Given the description of an element on the screen output the (x, y) to click on. 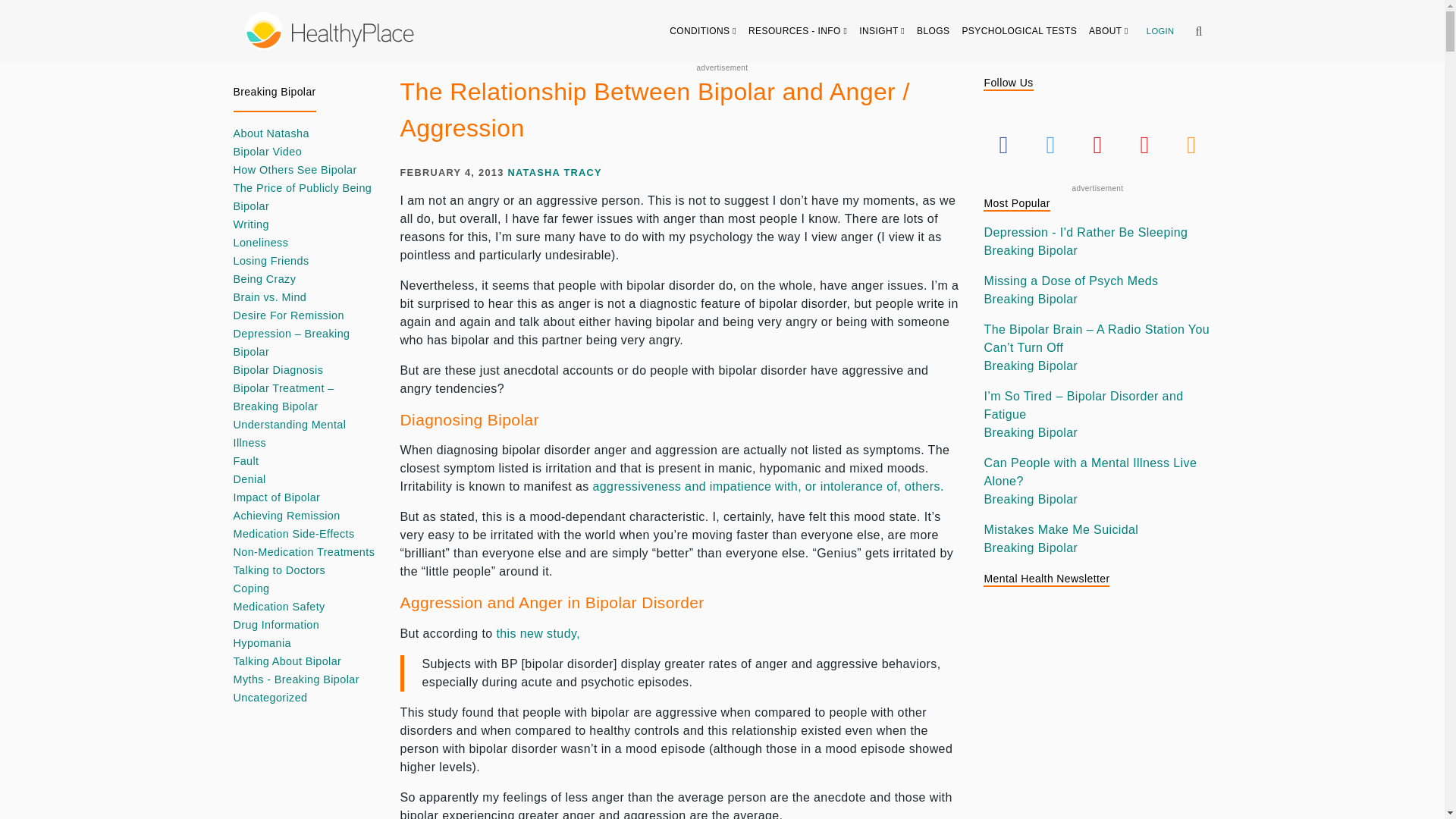
CONDITIONS (702, 31)
RESOURCES - INFO (797, 31)
INSIGHT (882, 31)
Study on Bipolar and Anger (537, 633)
Intolerance During Hypomania (767, 486)
